Given the description of an element on the screen output the (x, y) to click on. 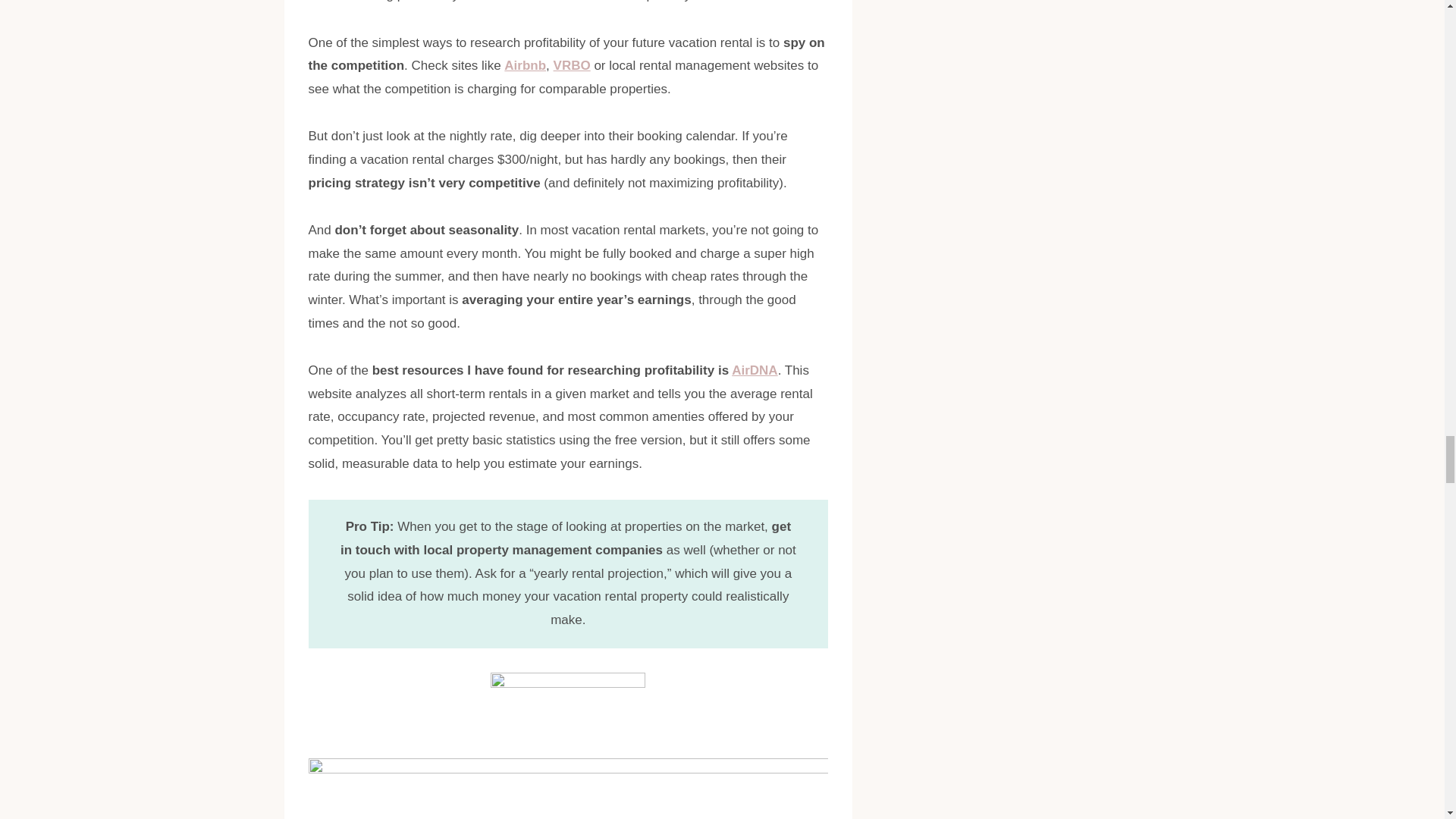
VRBO (572, 65)
Airbnb (524, 65)
AirDNA (754, 370)
